Given the description of an element on the screen output the (x, y) to click on. 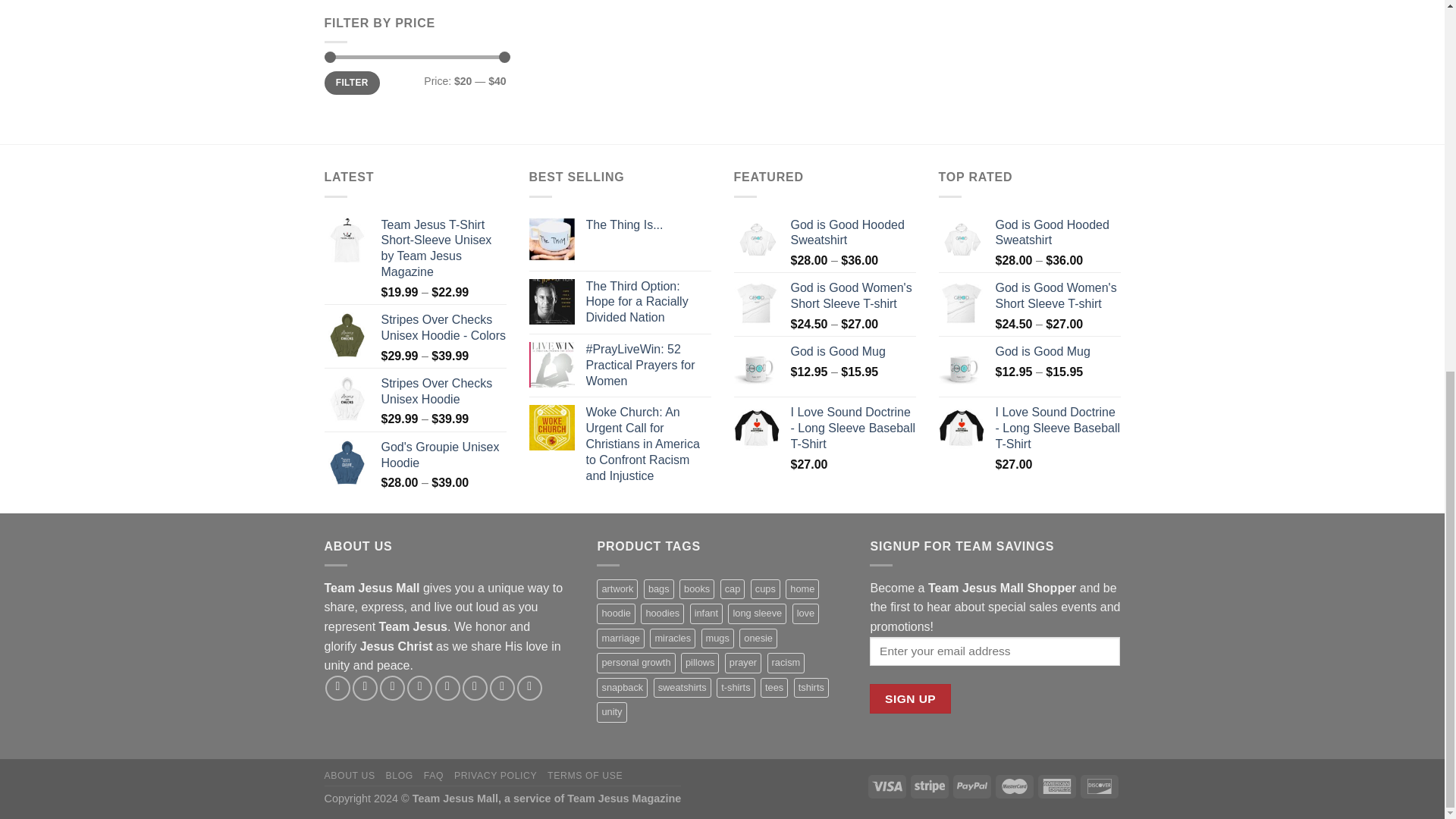
Follow on Facebook (337, 688)
Follow on Twitter (392, 688)
Sign up (909, 698)
Send us an email (419, 688)
Subscribe to RSS (475, 688)
Follow on Instagram (364, 688)
Follow on Pinterest (447, 688)
